Given the description of an element on the screen output the (x, y) to click on. 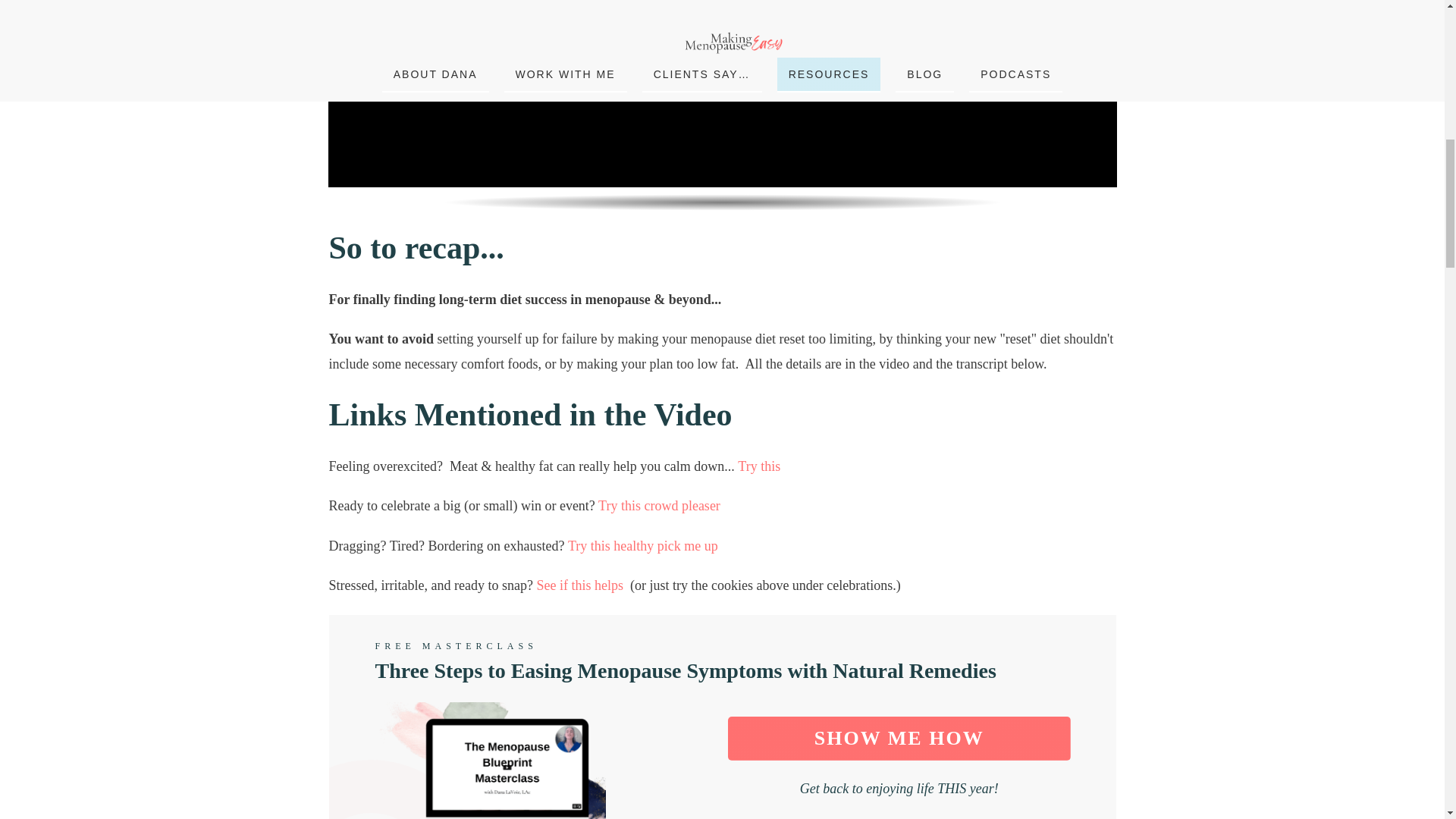
Try this (759, 466)
mc mockup hpn desktop (507, 760)
Try this healthy pick me up (642, 545)
See if this helps (579, 585)
Try this crowd pleaser (659, 505)
SHOW ME HOW (899, 738)
